Given the description of an element on the screen output the (x, y) to click on. 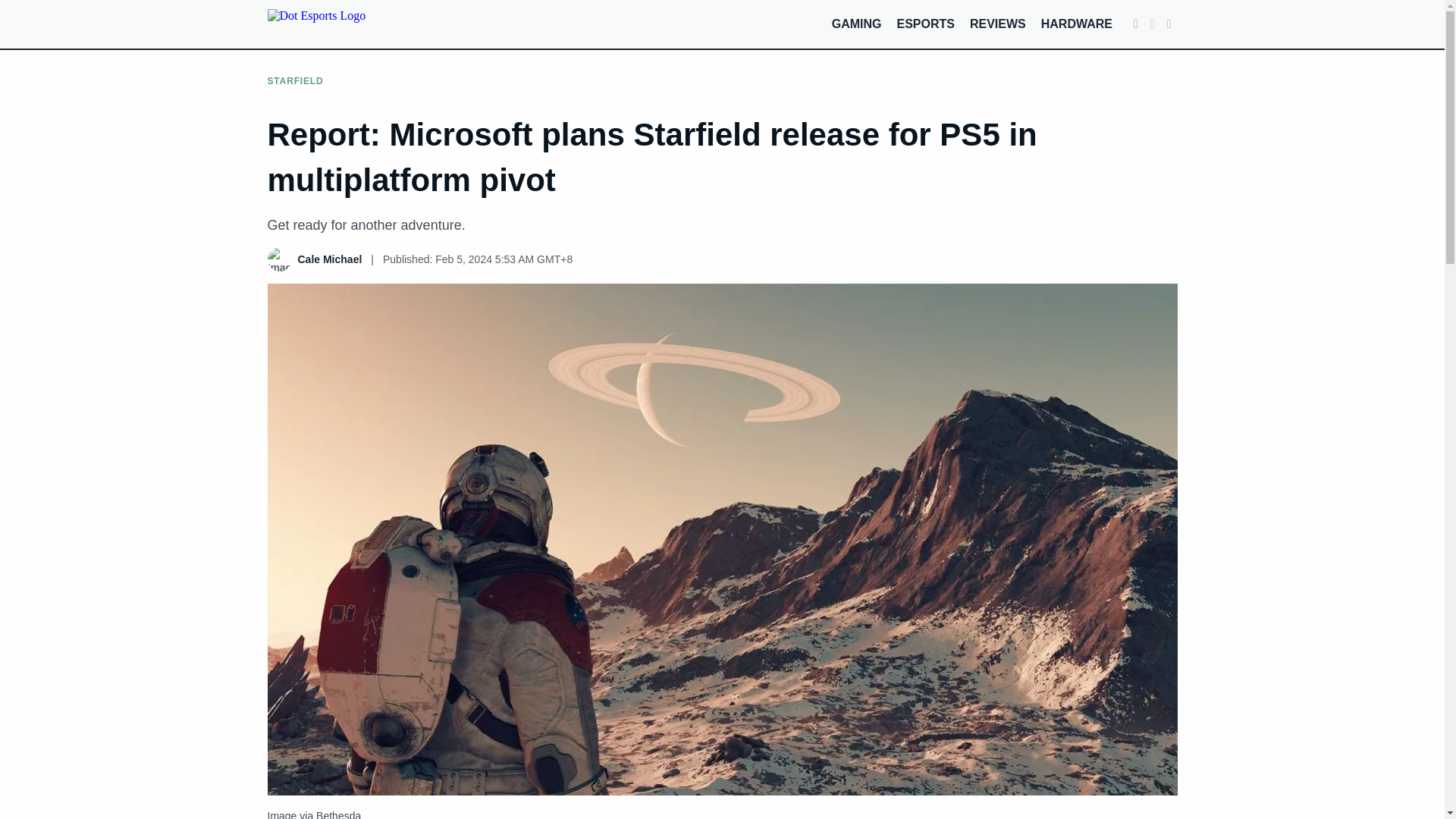
REVIEWS (997, 23)
HARDWARE (1076, 23)
GAMING (856, 23)
ESPORTS (924, 23)
